Given the description of an element on the screen output the (x, y) to click on. 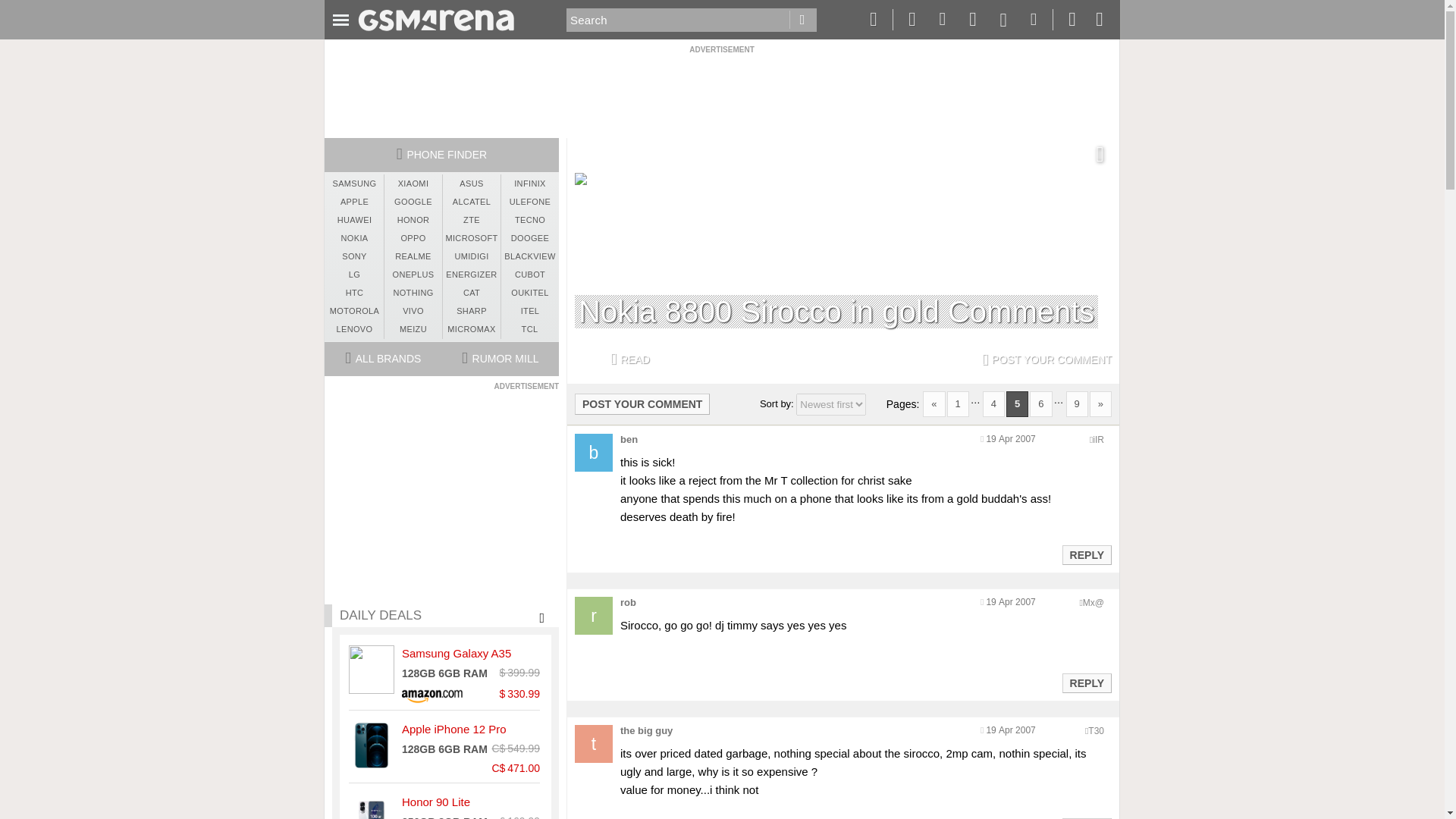
READ (630, 359)
Sort comments by (831, 404)
Reply to this post (1086, 683)
REPLY (1086, 555)
POST YOUR COMMENT (642, 403)
Encoded anonymized location (1098, 439)
3rd party ad content (721, 88)
POST YOUR COMMENT (1046, 359)
Go (802, 19)
Go (802, 19)
REPLY (1086, 683)
Reply to this post (1086, 554)
Encoded anonymized location (1095, 730)
Encoded anonymized location (1093, 602)
